Given the description of an element on the screen output the (x, y) to click on. 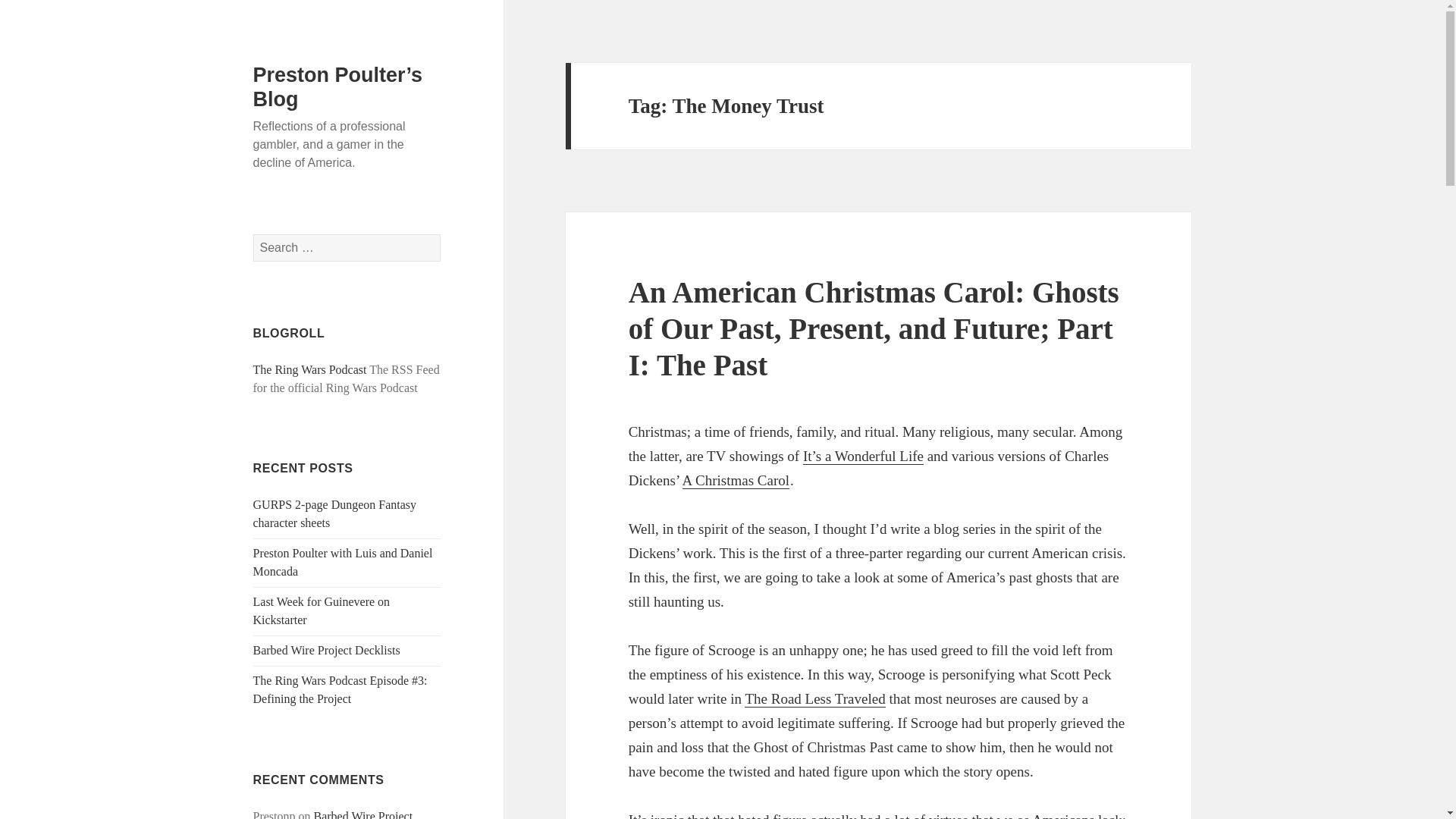
Last Week for Guinevere on Kickstarter (321, 610)
The Ring Wars Podcast (309, 369)
Barbed Wire Project Decklists (333, 814)
The RSS Feed for the official Ring Wars Podcast (309, 369)
Barbed Wire Project Decklists (326, 649)
Preston Poulter with Luis and Daniel Moncada (342, 562)
GURPS 2-page Dungeon Fantasy character sheets (334, 513)
